Given the description of an element on the screen output the (x, y) to click on. 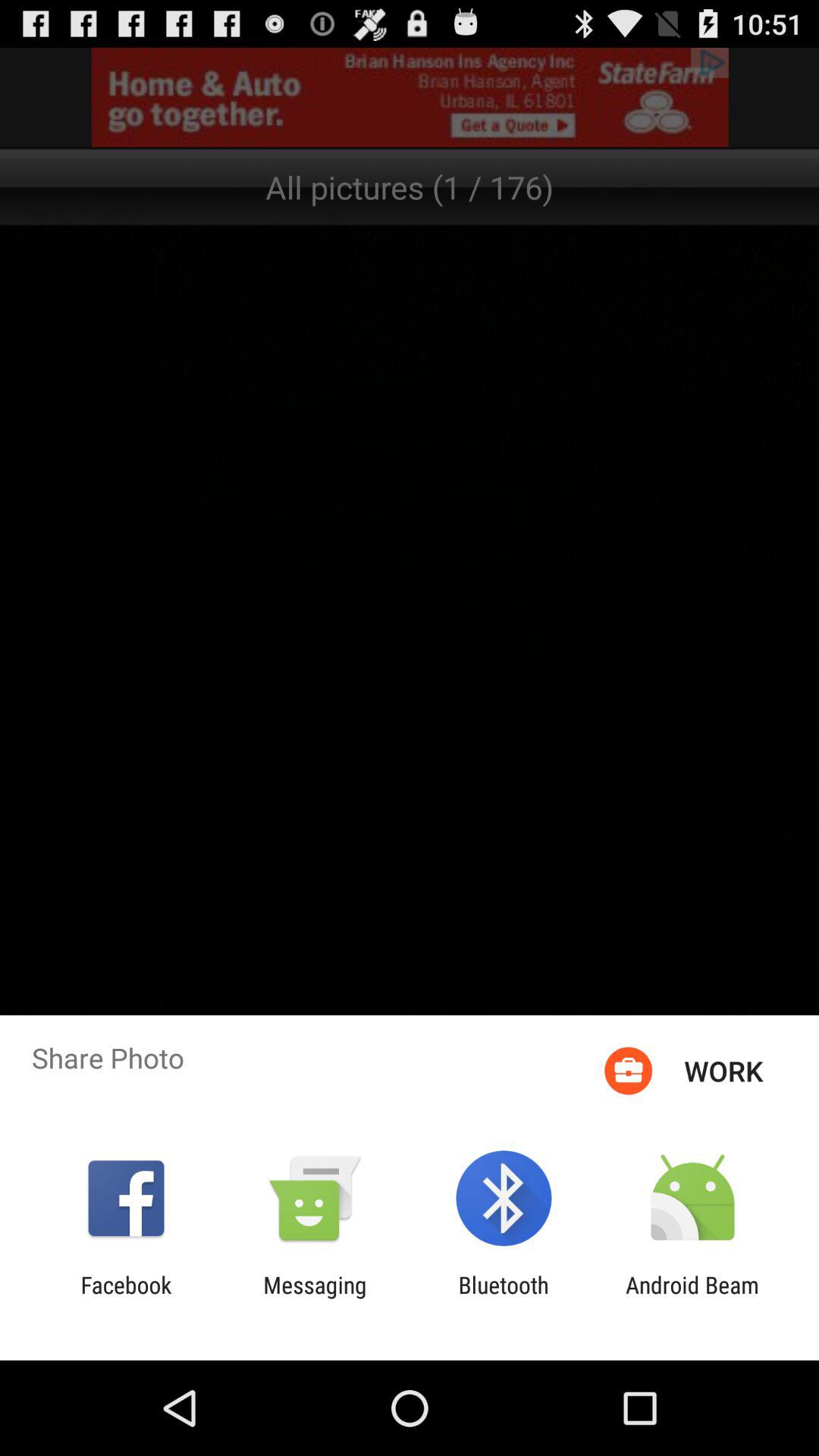
turn on the app to the right of the facebook (314, 1298)
